Given the description of an element on the screen output the (x, y) to click on. 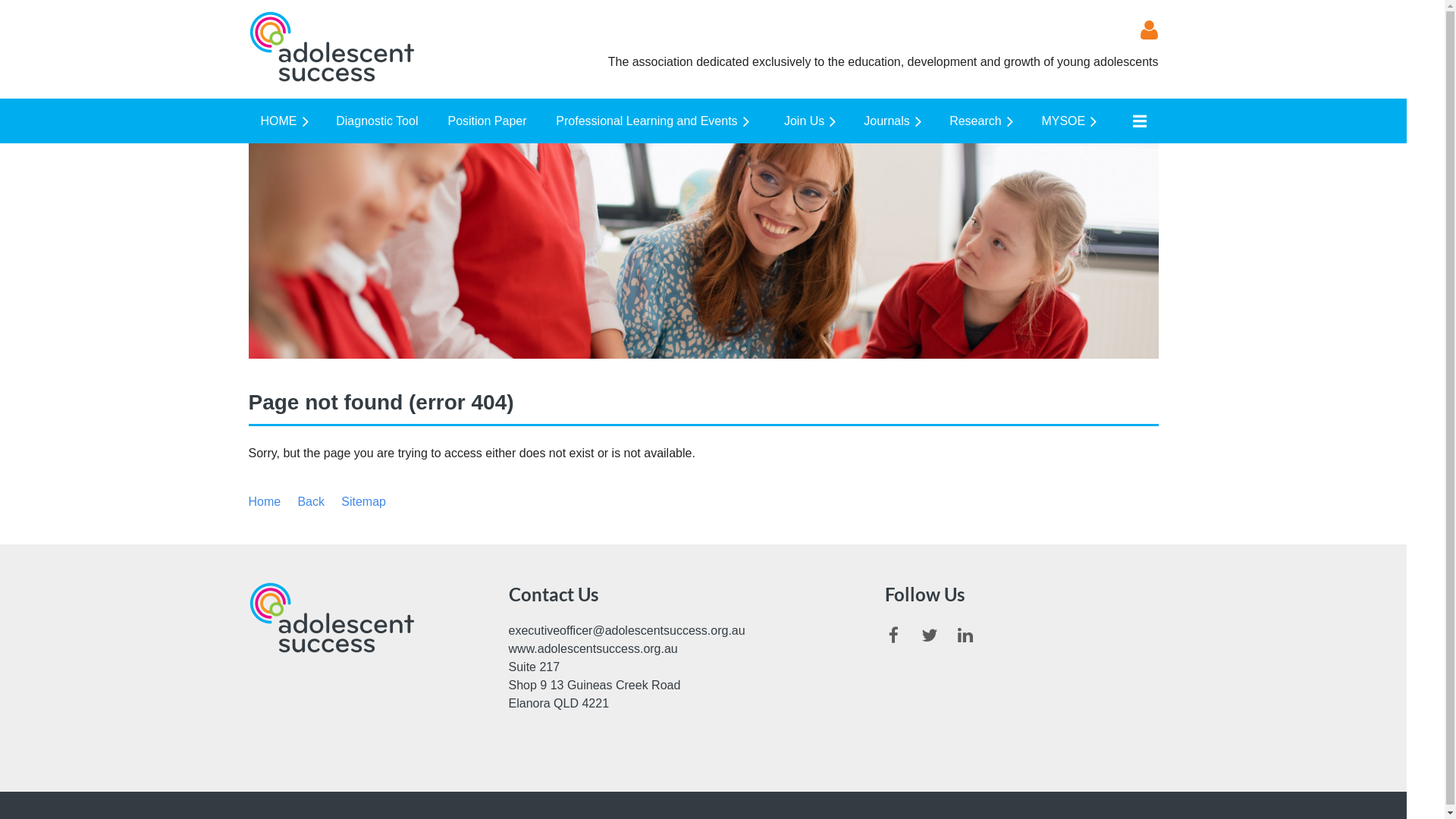
Facebook Element type: hover (893, 634)
MYSOE Element type: text (1070, 120)
Home Element type: text (264, 501)
Research Element type: text (983, 120)
Diagnostic Tool Element type: text (379, 120)
Professional Learning and Events Element type: text (657, 120)
Position Paper Element type: text (489, 120)
LinkedIn Element type: hover (964, 634)
Journals Element type: text (894, 120)
Log in Element type: text (1139, 30)
HOME Element type: text (286, 120)
Sitemap Element type: text (363, 501)
Twitter Element type: hover (929, 634)
Join Us Element type: text (811, 120)
Back Element type: text (310, 501)
